Given the description of an element on the screen output the (x, y) to click on. 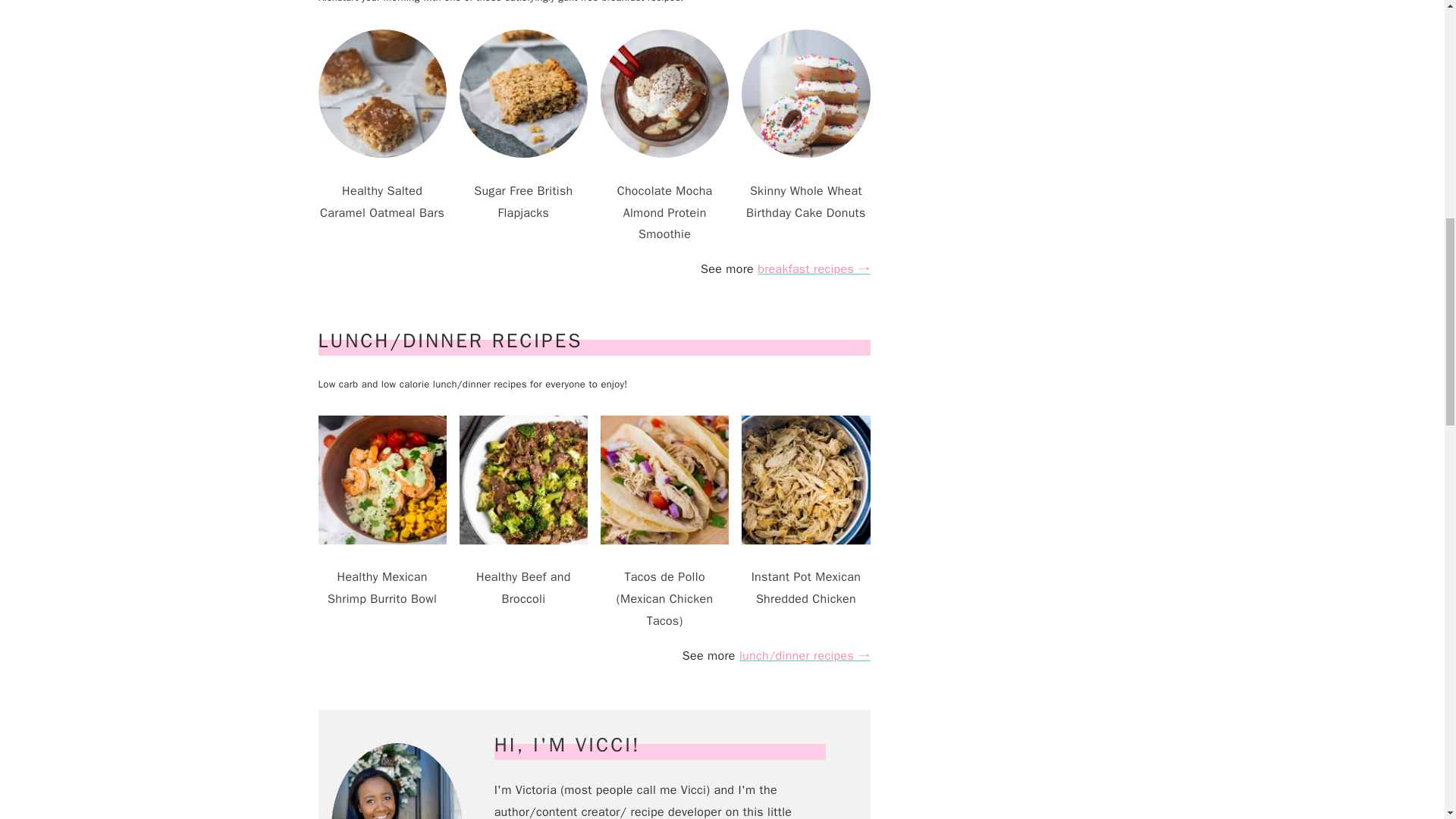
Skinny Whole Wheat Birthday Cake Donuts (805, 192)
Chocolate Mocha Almond Protein Smoothie (664, 203)
Healthy Salted Caramel Oatmeal Bars (382, 192)
Sugar Free British Flapjacks (524, 192)
